Given the description of an element on the screen output the (x, y) to click on. 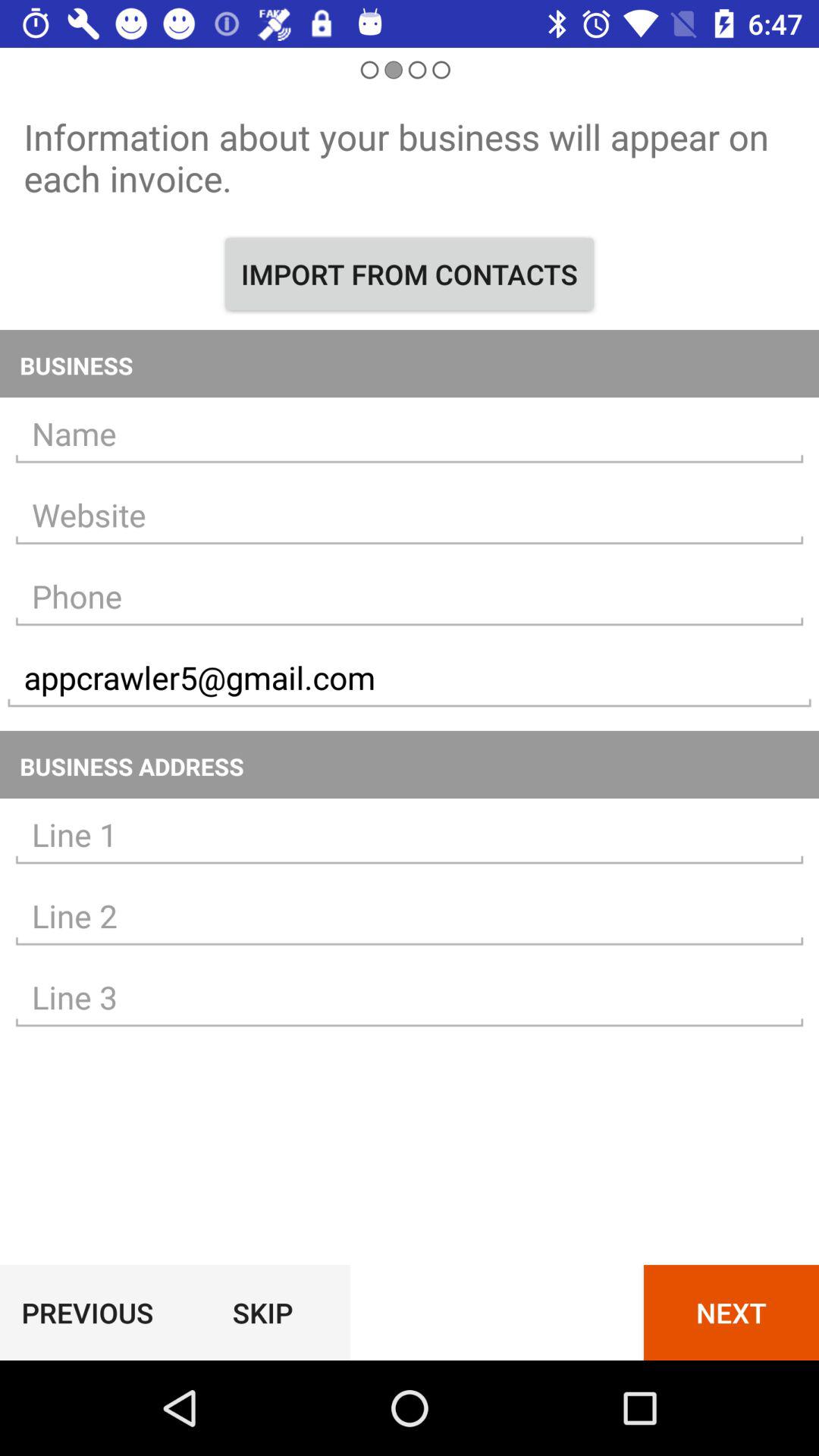
click item to the right of the skip (731, 1312)
